Given the description of an element on the screen output the (x, y) to click on. 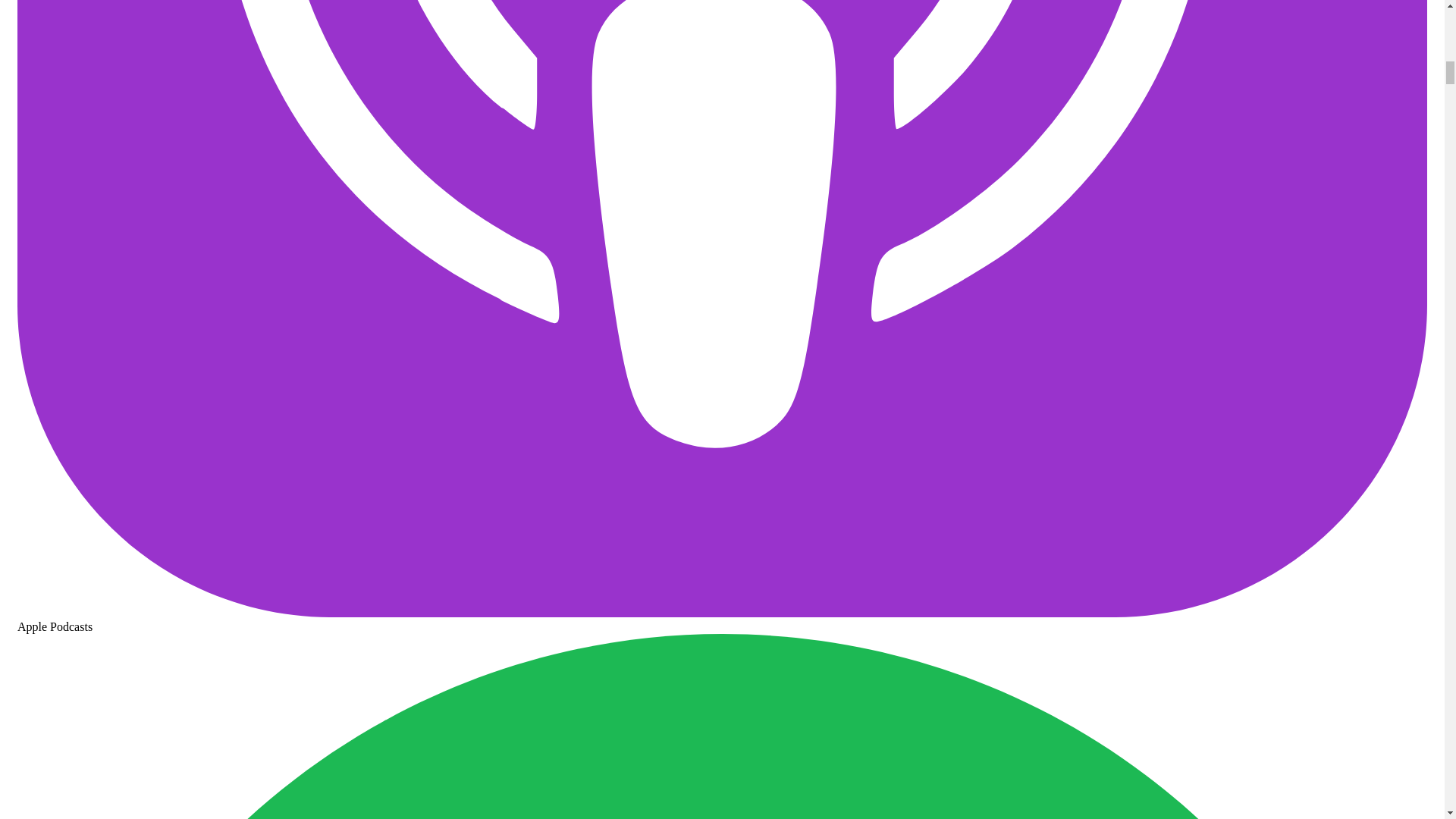
Apple Podcasts (721, 619)
Listen on Apple Podcasts (721, 619)
